Given the description of an element on the screen output the (x, y) to click on. 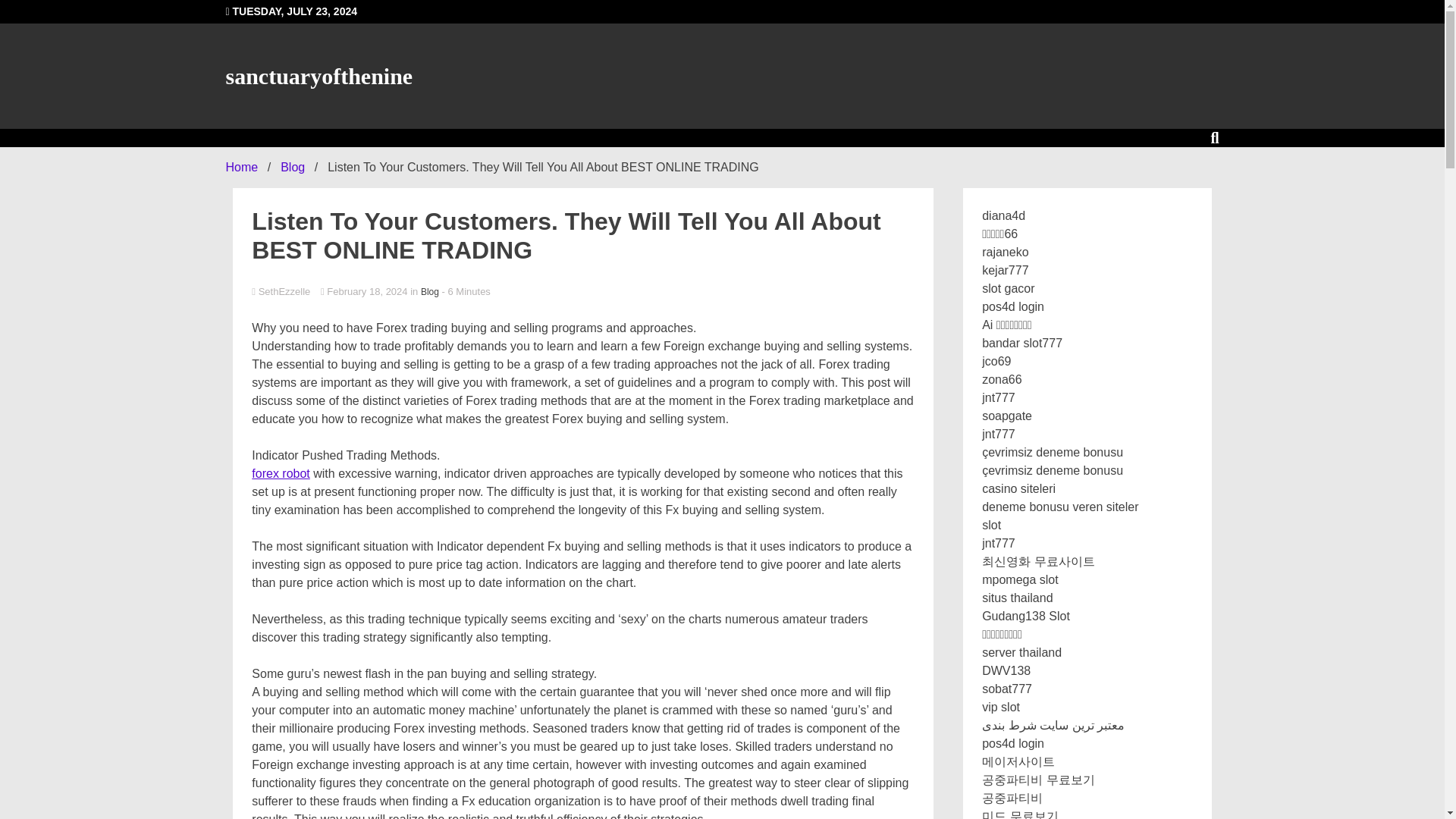
Home (242, 166)
kejar777 (1004, 269)
sanctuaryofthenine (319, 75)
zona66 (1001, 379)
jnt777 (997, 433)
rajaneko (1004, 251)
soapgate (1006, 415)
jco69 (995, 360)
Estimated Reading Time of Article (466, 291)
Blog (429, 291)
diana4d (1003, 215)
pos4d login (1012, 306)
jnt777 (997, 397)
forex robot (279, 472)
slot gacor (1007, 287)
